Given the description of an element on the screen output the (x, y) to click on. 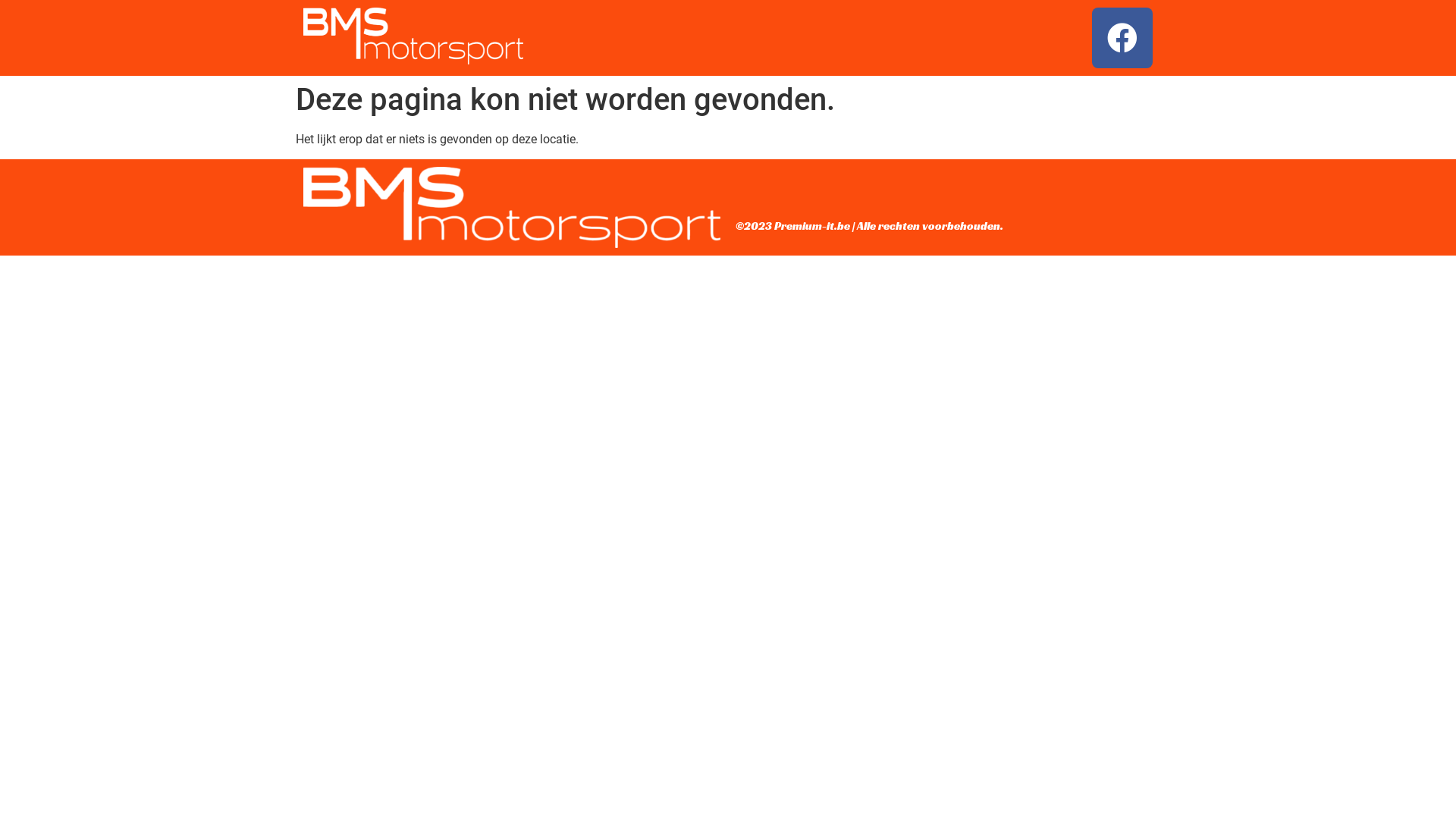
Premium-it.be Element type: text (812, 225)
